Given the description of an element on the screen output the (x, y) to click on. 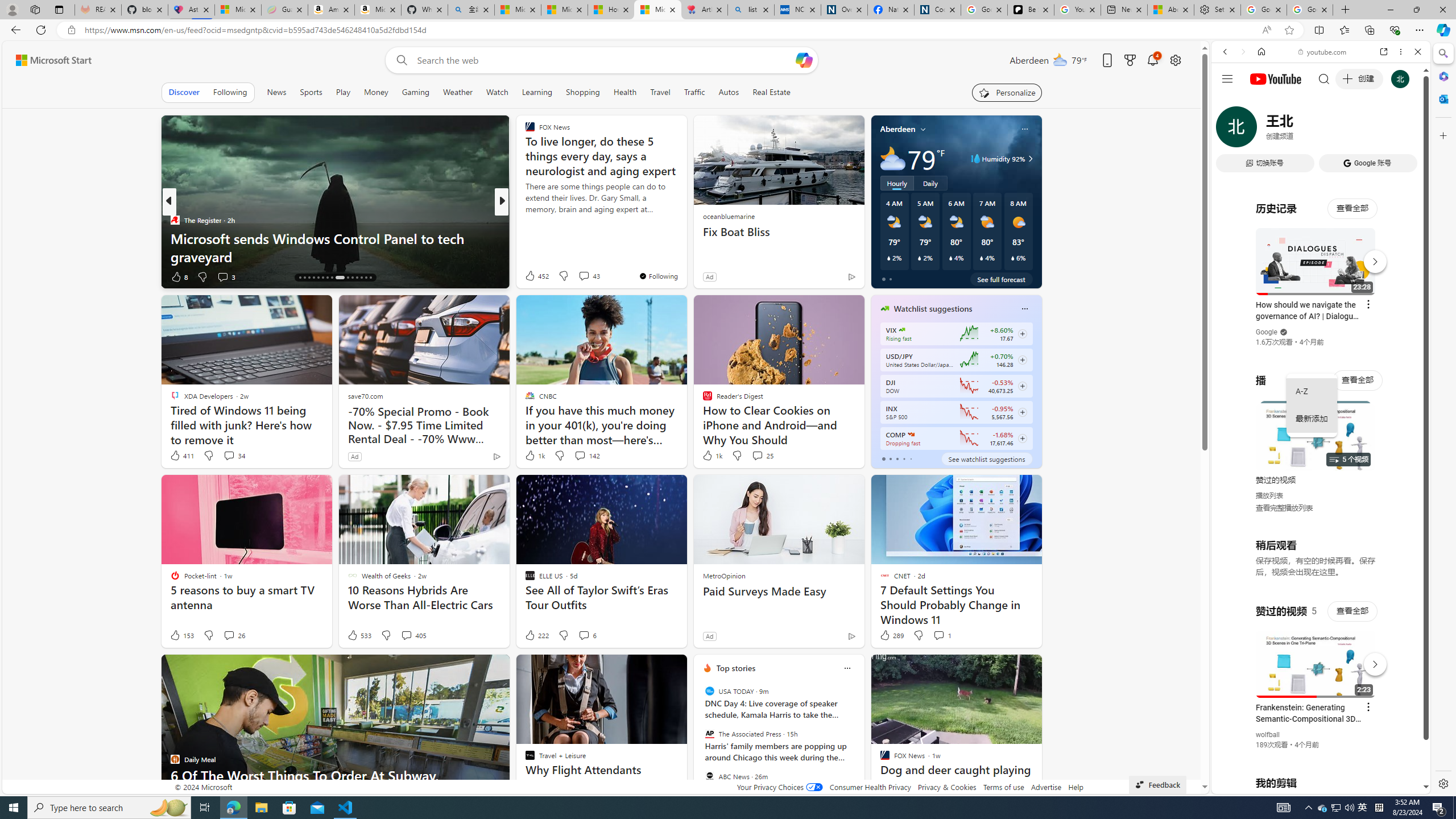
USA TODAY (709, 691)
Personalize your feed" (1007, 92)
323 Like (532, 276)
View comments 496 Comment (583, 276)
View comments 496 Comment (576, 276)
153 Like (181, 634)
oceanbluemarine (727, 215)
Paid Surveys Made Easy (778, 591)
Music (1320, 309)
next (858, 741)
